Given the description of an element on the screen output the (x, y) to click on. 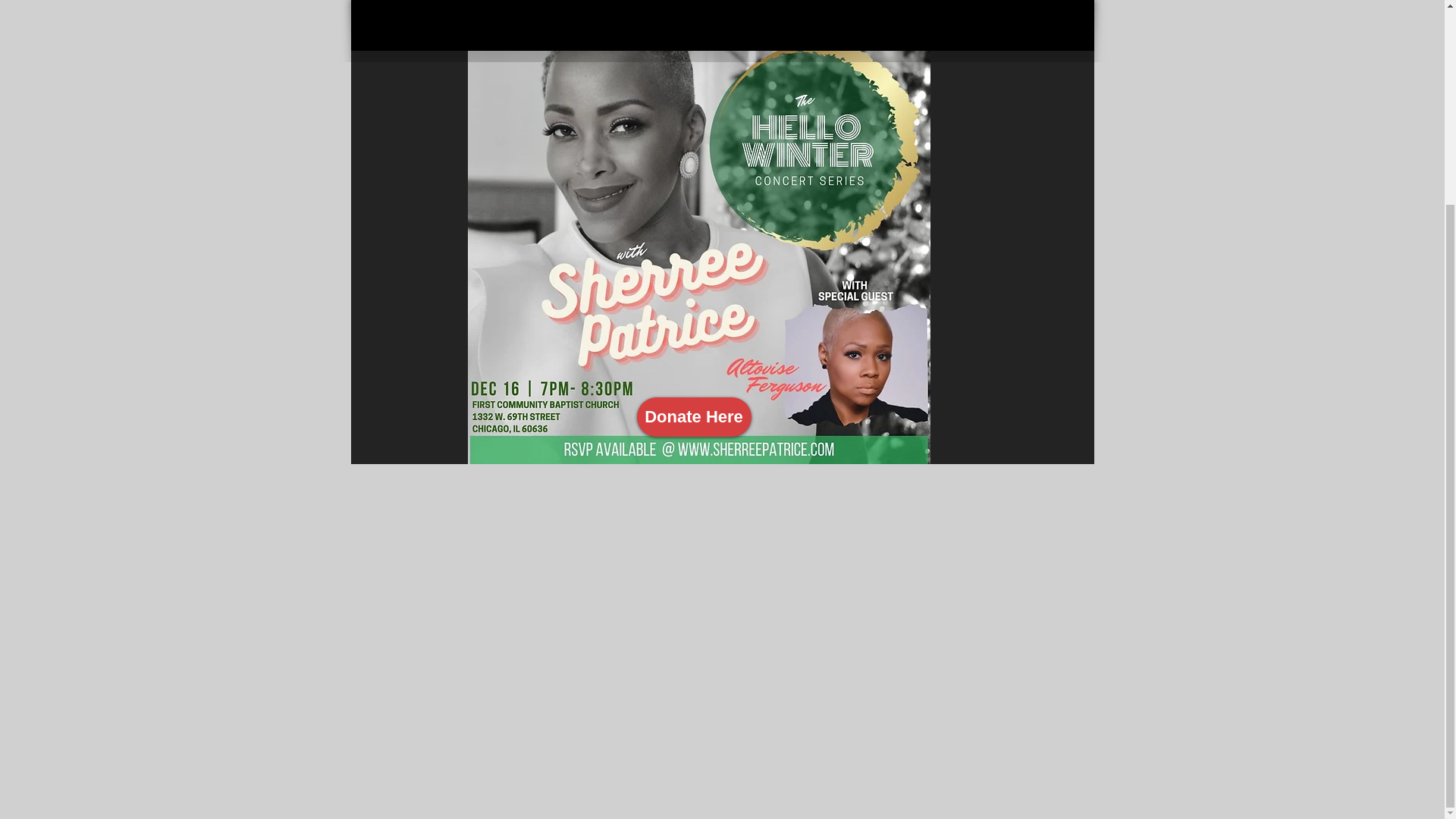
Donate Here (694, 416)
